Given the description of an element on the screen output the (x, y) to click on. 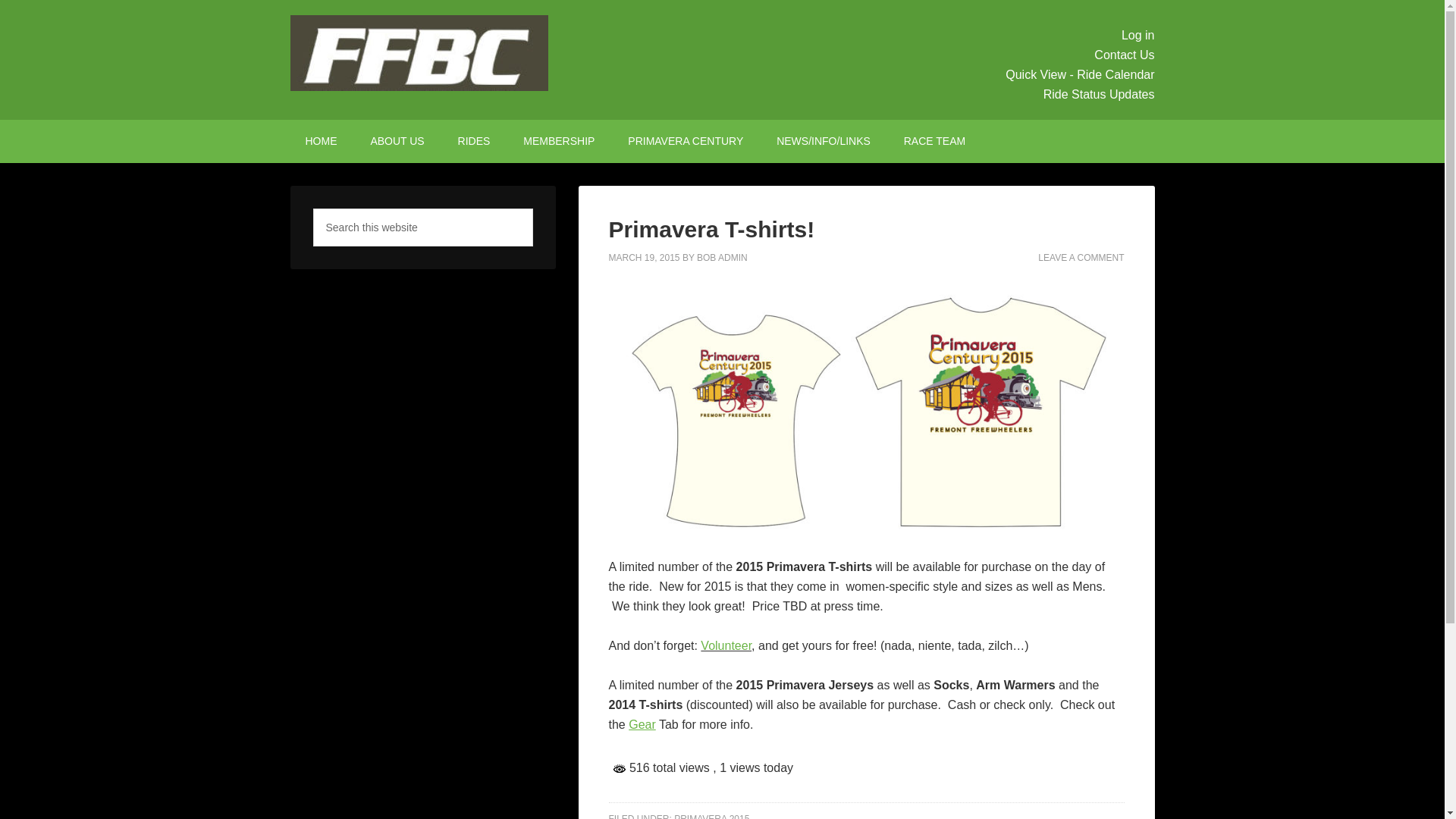
FFBC (418, 52)
Ride Status Updates (1098, 93)
Quick View - Ride Calendar (1080, 74)
ABOUT US (397, 140)
MEMBERSHIP (559, 140)
Log in (1137, 34)
Contact Us (1124, 54)
HOME (320, 140)
RIDES (473, 140)
